Given the description of an element on the screen output the (x, y) to click on. 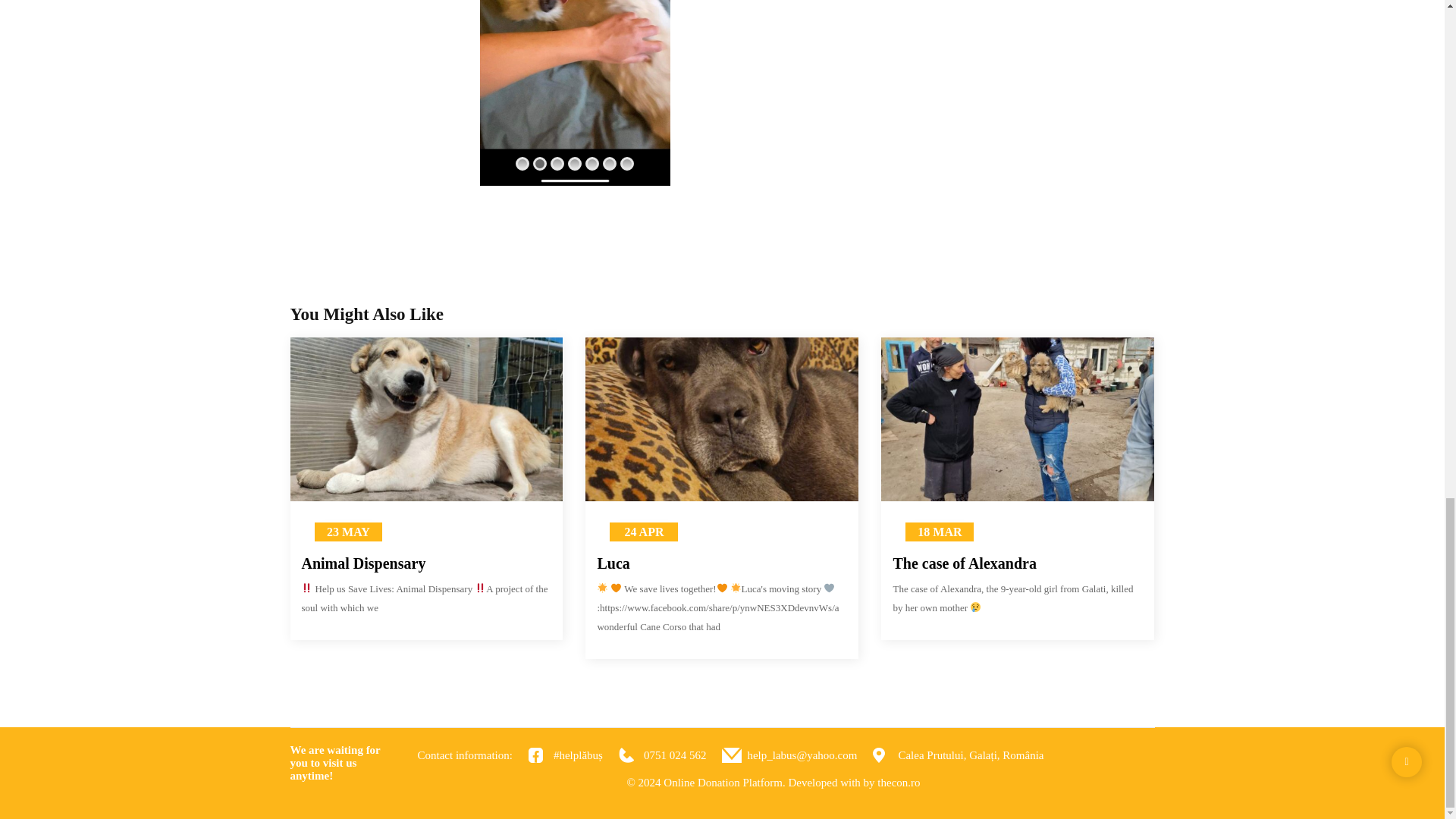
Luca (721, 563)
Animal Dispensary (426, 563)
